Given the description of an element on the screen output the (x, y) to click on. 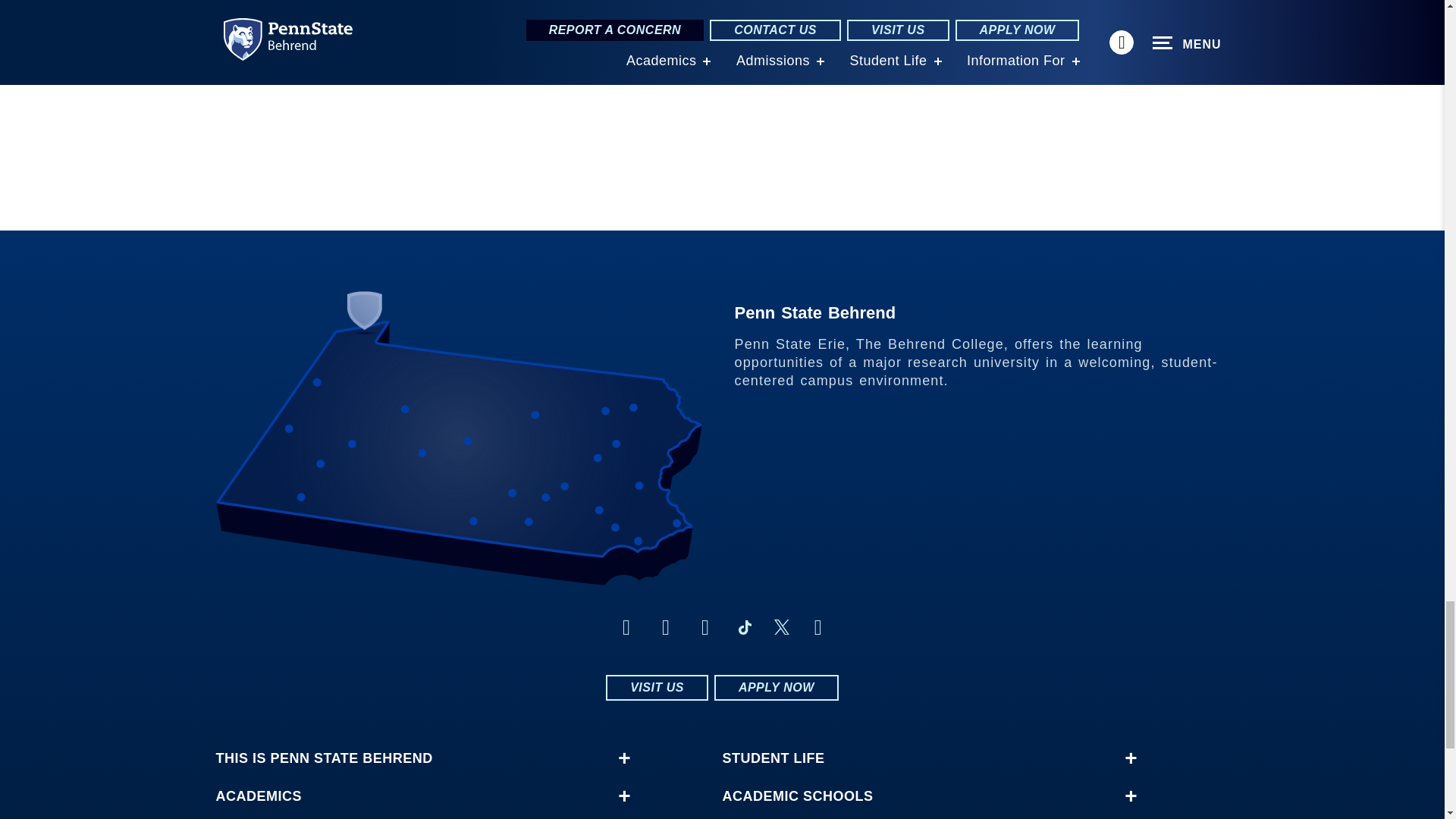
TikTok (744, 627)
Facebook (626, 627)
LinkedIn (705, 627)
YouTube (818, 627)
Instagram (666, 627)
